Given the description of an element on the screen output the (x, y) to click on. 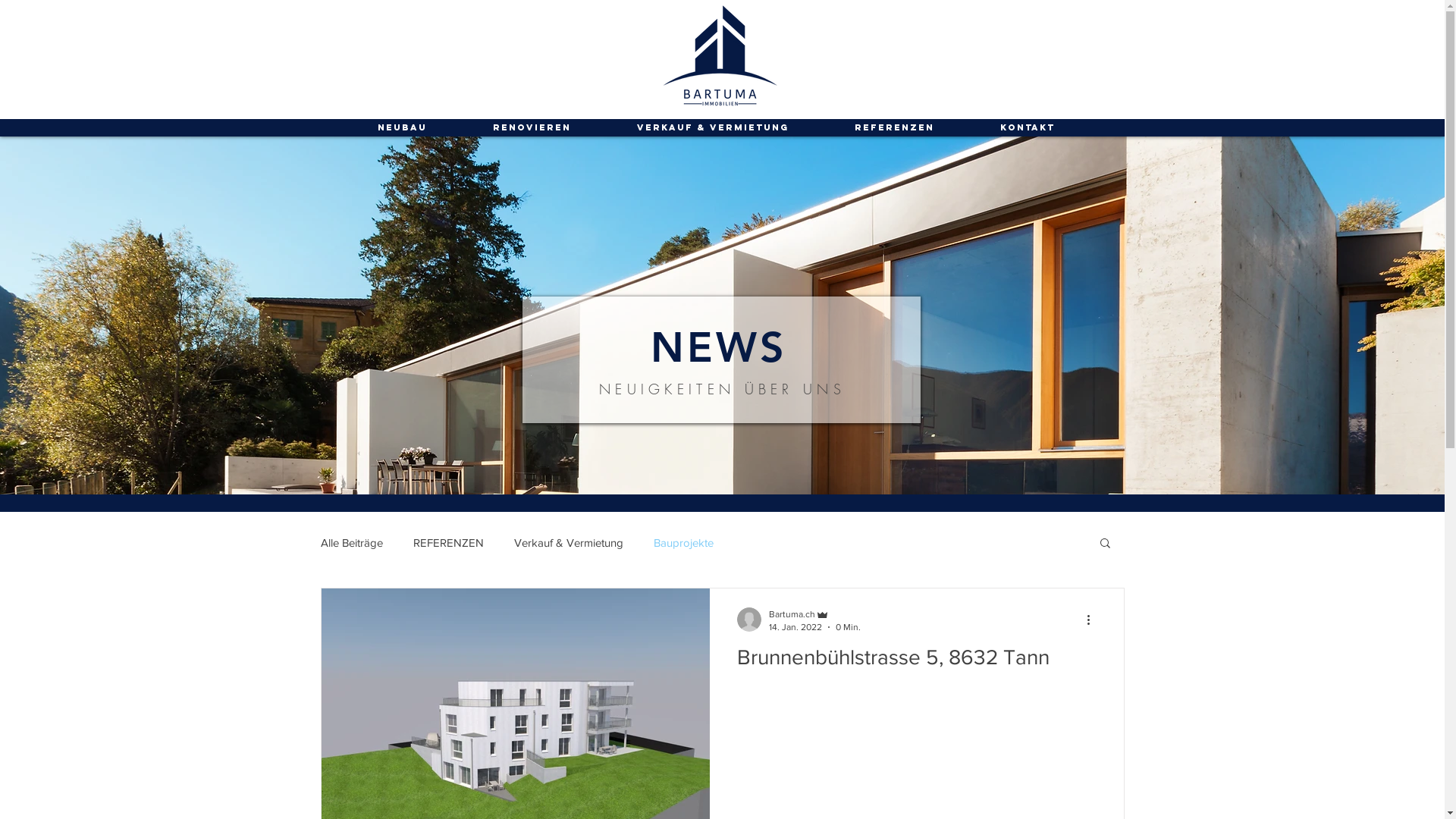
RENOVIEREN Element type: text (531, 127)
VERKAUF & VERMIETUNG Element type: text (712, 127)
NEUBAU Element type: text (401, 127)
Bauprojekte Element type: text (683, 541)
Verkauf & Vermietung Element type: text (568, 541)
REFERENZEN Element type: text (447, 541)
KONTAKT Element type: text (1027, 127)
REFERENZEN Element type: text (894, 127)
